Given the description of an element on the screen output the (x, y) to click on. 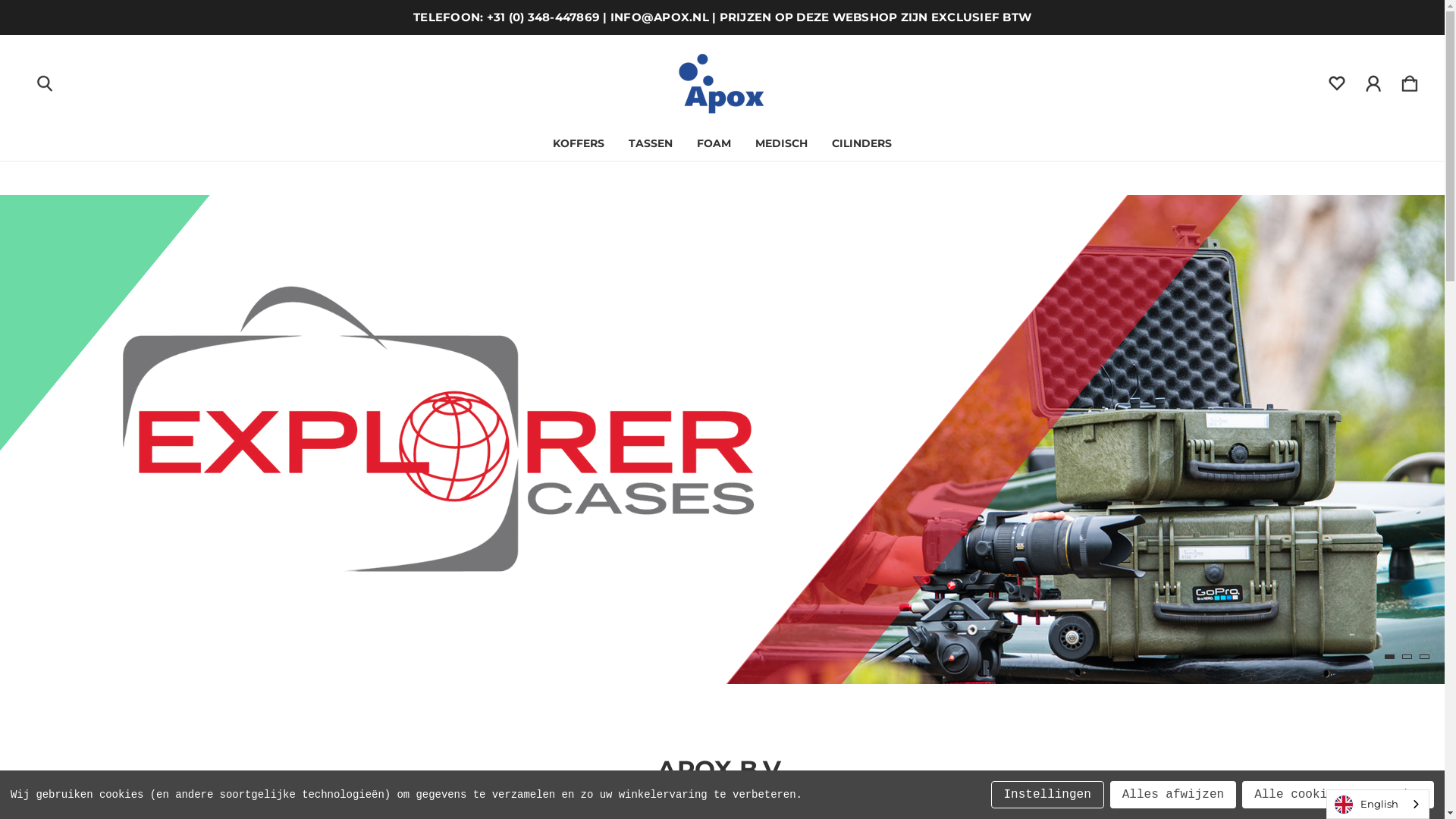
Apox Element type: hover (722, 80)
Alle cookies aanvaarden Element type: text (1338, 794)
TASSEN Element type: text (650, 143)
Instellingen Element type: text (1047, 794)
MEDISCH Element type: text (781, 143)
FOAM Element type: text (713, 143)
English Element type: text (1377, 804)
KOFFERS Element type: text (578, 143)
Alles afwijzen Element type: text (1173, 794)
CILINDERS Element type: text (861, 143)
